Given the description of an element on the screen output the (x, y) to click on. 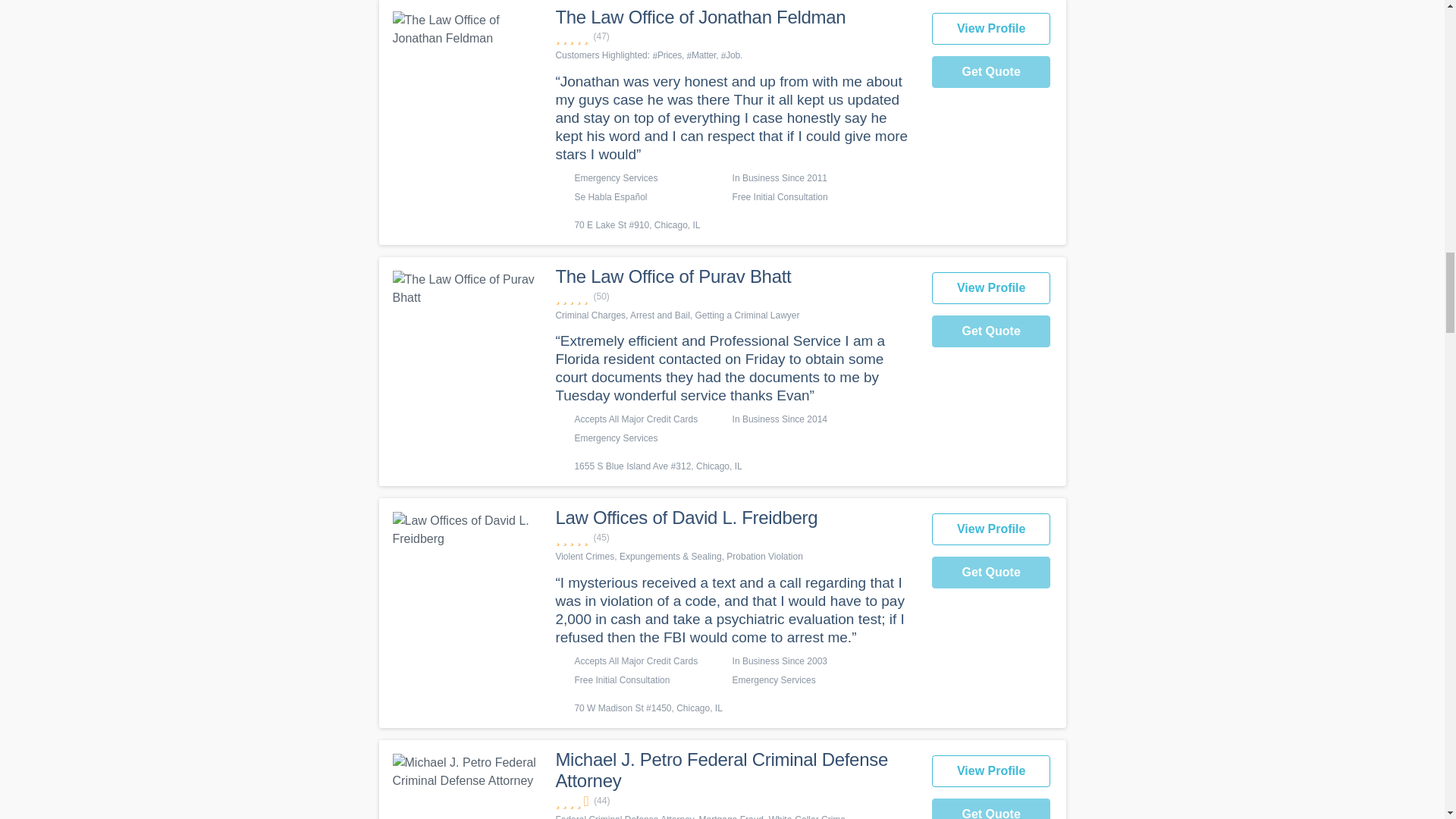
4.9 (734, 36)
5.0 (734, 296)
4.5 (734, 800)
4.7 (734, 537)
